Given the description of an element on the screen output the (x, y) to click on. 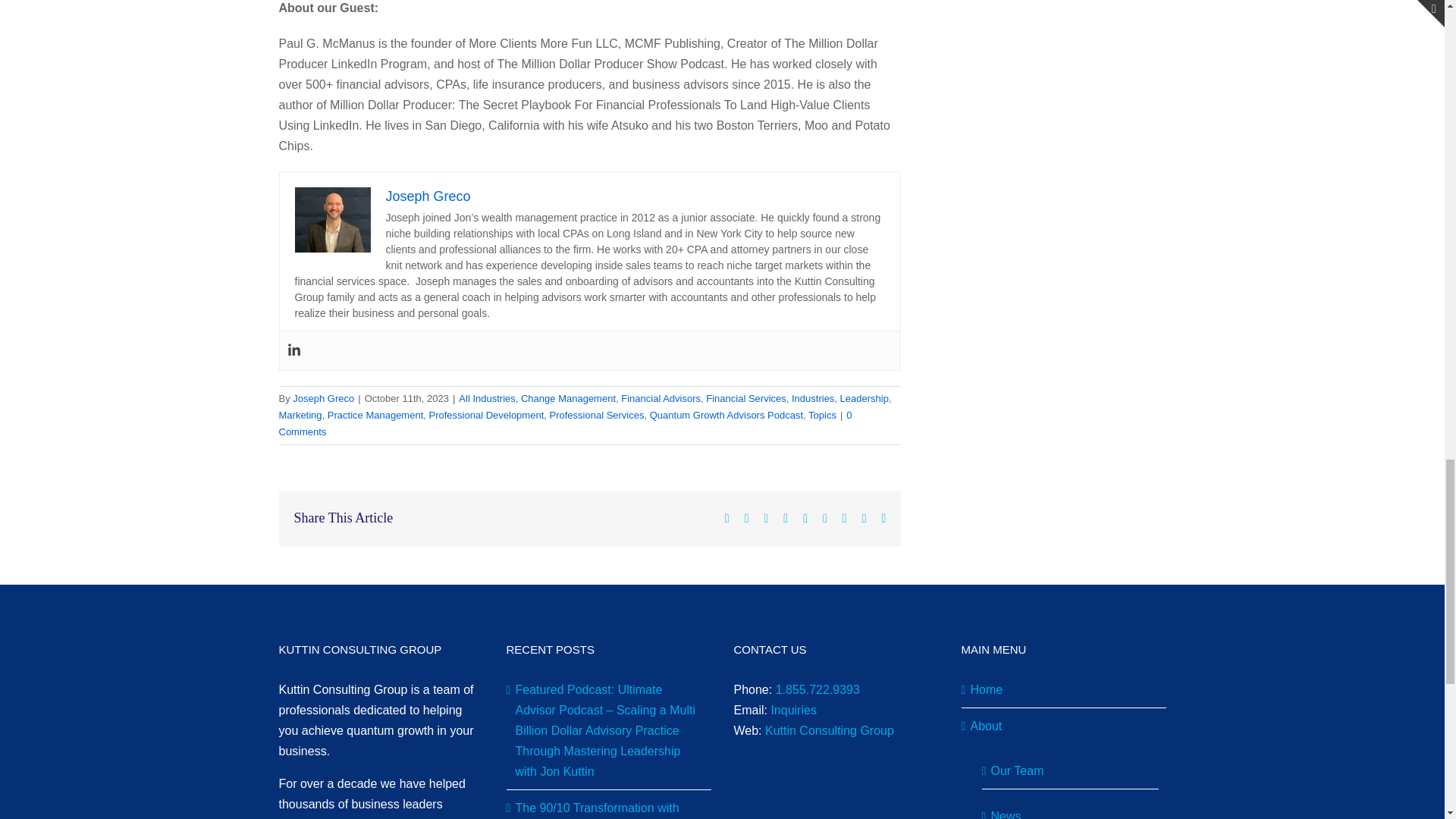
Posts by Joseph Greco (322, 398)
